Given the description of an element on the screen output the (x, y) to click on. 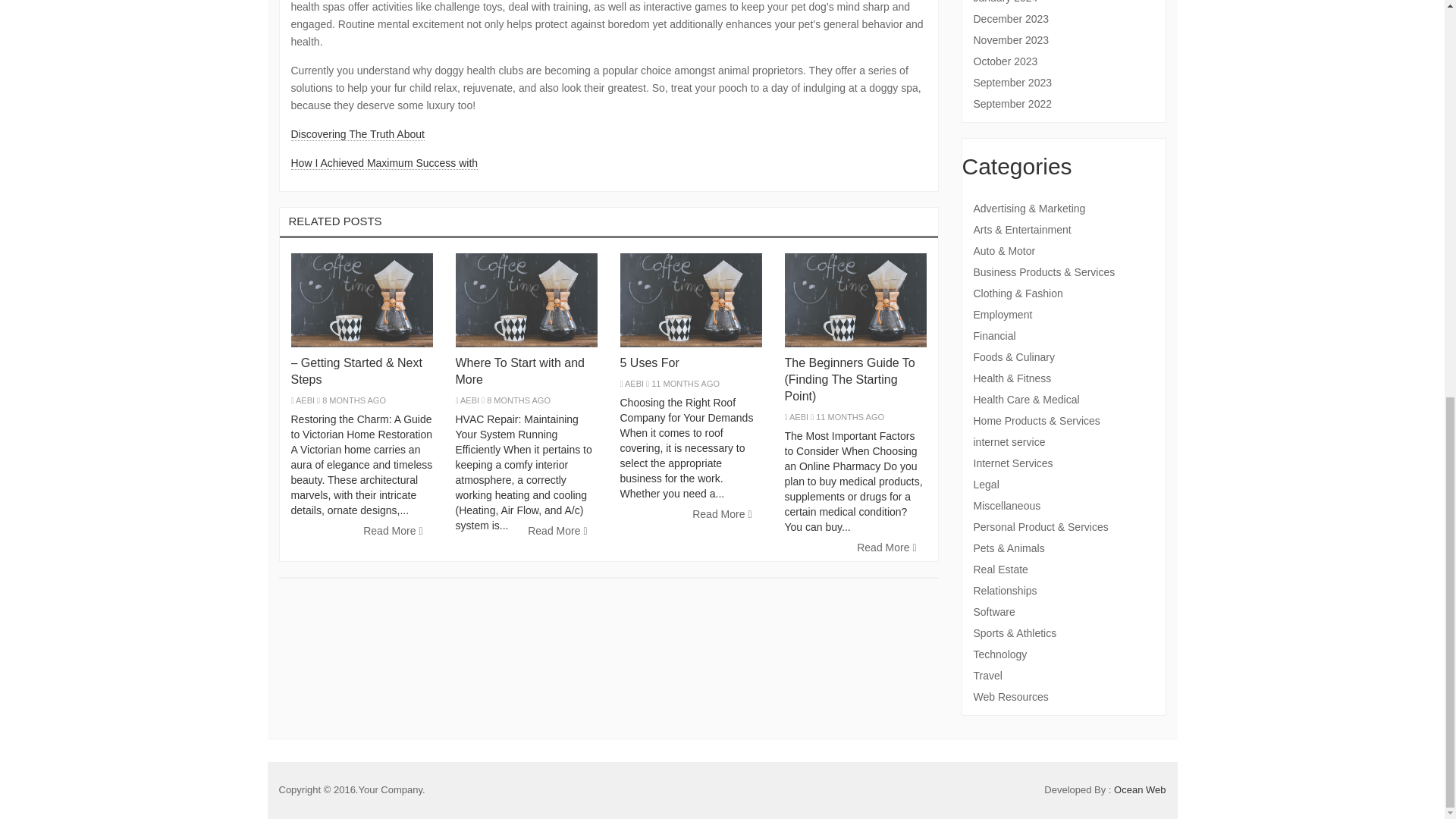
Discovering The Truth About (358, 133)
Where To Start with and More (518, 370)
Read More (392, 531)
5 Uses For (649, 362)
Read More (886, 548)
Read More (557, 531)
Read More (721, 514)
How I Achieved Maximum Success with (385, 163)
